Given the description of an element on the screen output the (x, y) to click on. 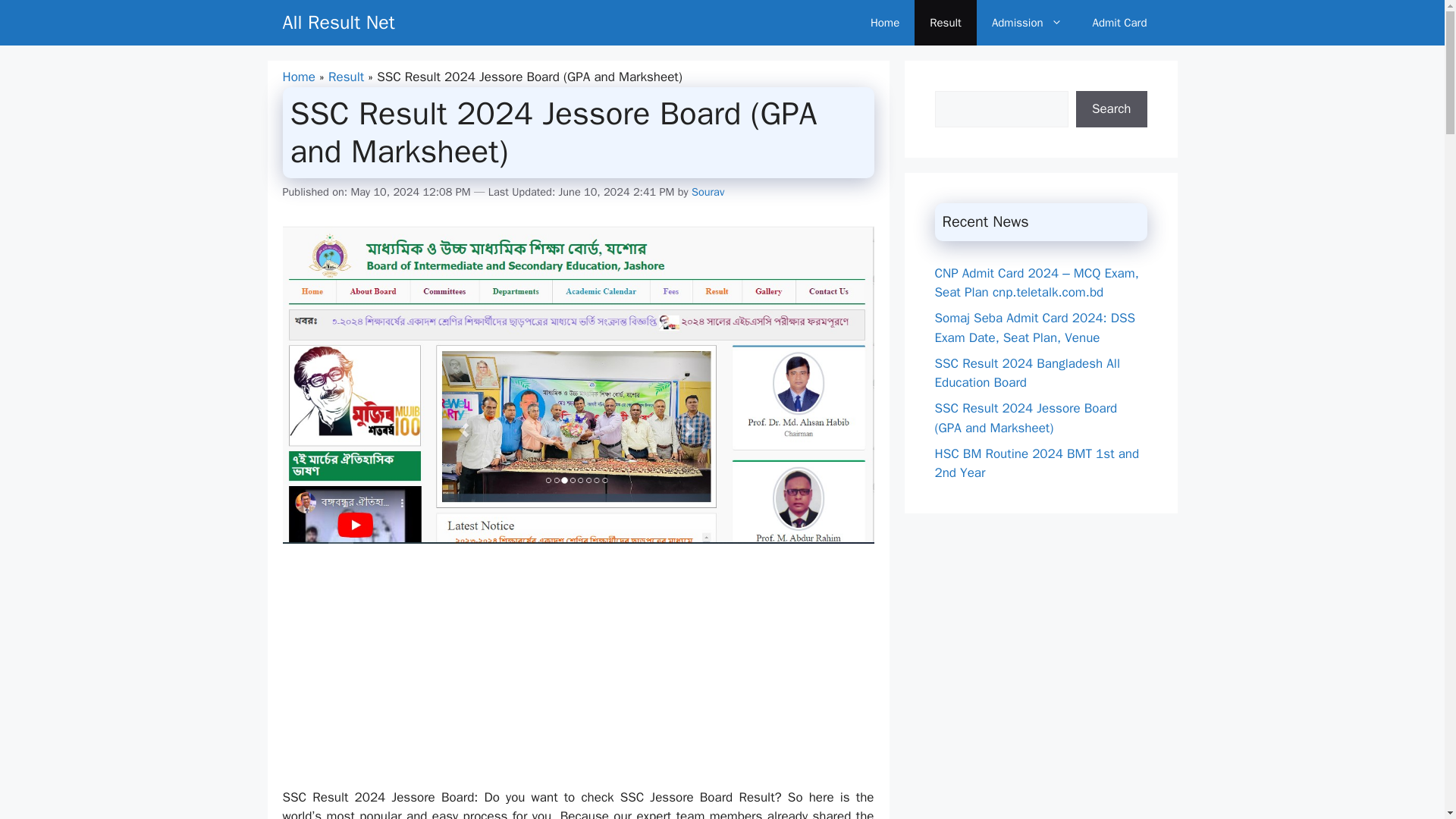
Search (1111, 108)
Result (346, 76)
Somaj Seba Admit Card 2024: DSS Exam Date, Seat Plan, Venue (1034, 327)
Home (885, 22)
Result (945, 22)
Admit Card (1119, 22)
All Result Net (338, 22)
View all posts by Sourav (707, 192)
Sourav (707, 192)
Admission (1026, 22)
Home (298, 76)
